Given the description of an element on the screen output the (x, y) to click on. 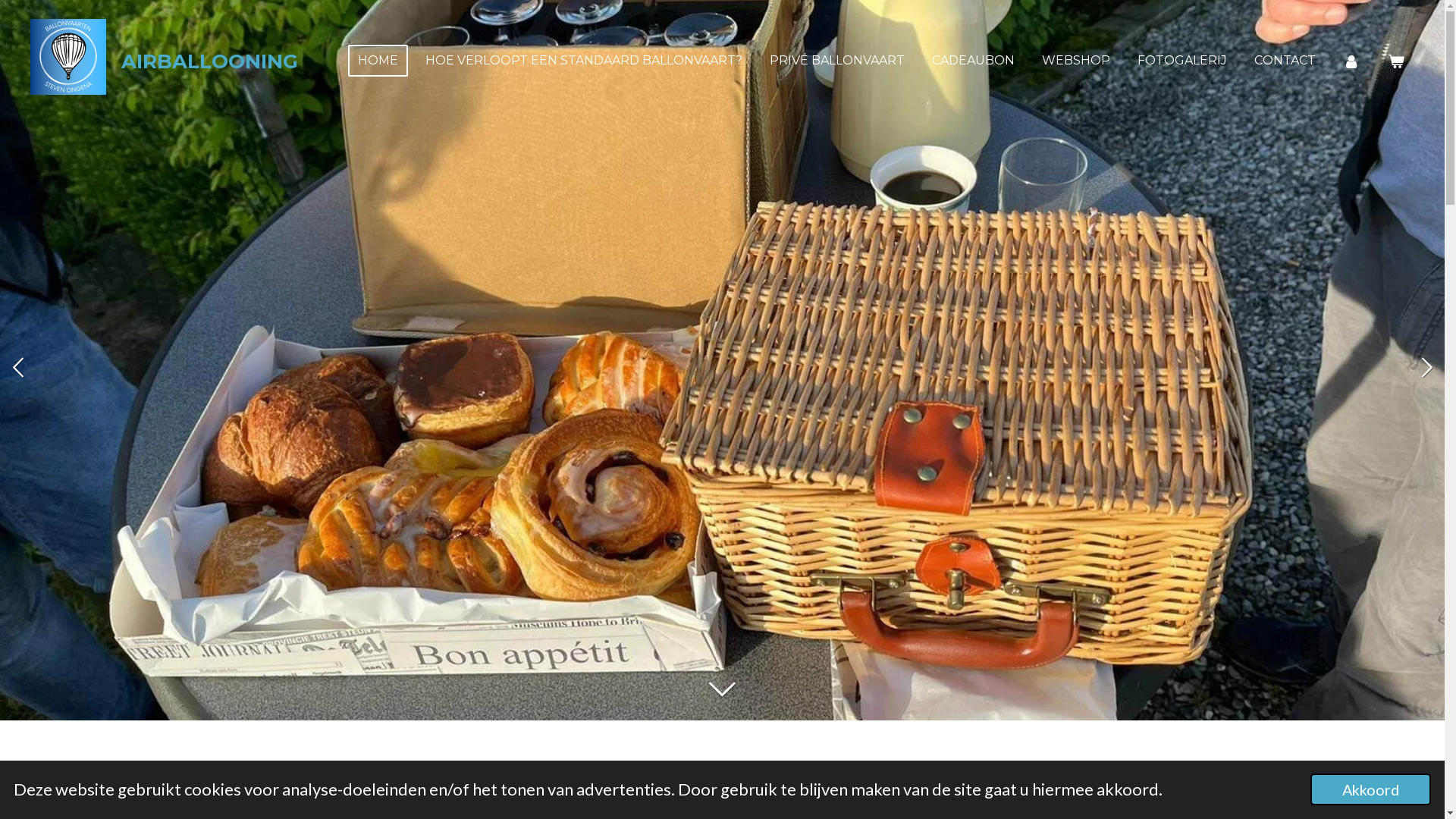
HOME Element type: text (377, 60)
Bekijk winkelwagen Element type: hover (1395, 60)
HOE VERLOOPT EEN STANDAARD BALLONVAART? Element type: text (583, 60)
WEBSHOP Element type: text (1076, 60)
CADEAUBON Element type: text (973, 60)
CONTACT Element type: text (1284, 60)
Account Element type: hover (1351, 60)
Akkoord Element type: text (1370, 789)
FOTOGALERIJ Element type: text (1181, 60)
airballooning Element type: hover (68, 56)
